Given the description of an element on the screen output the (x, y) to click on. 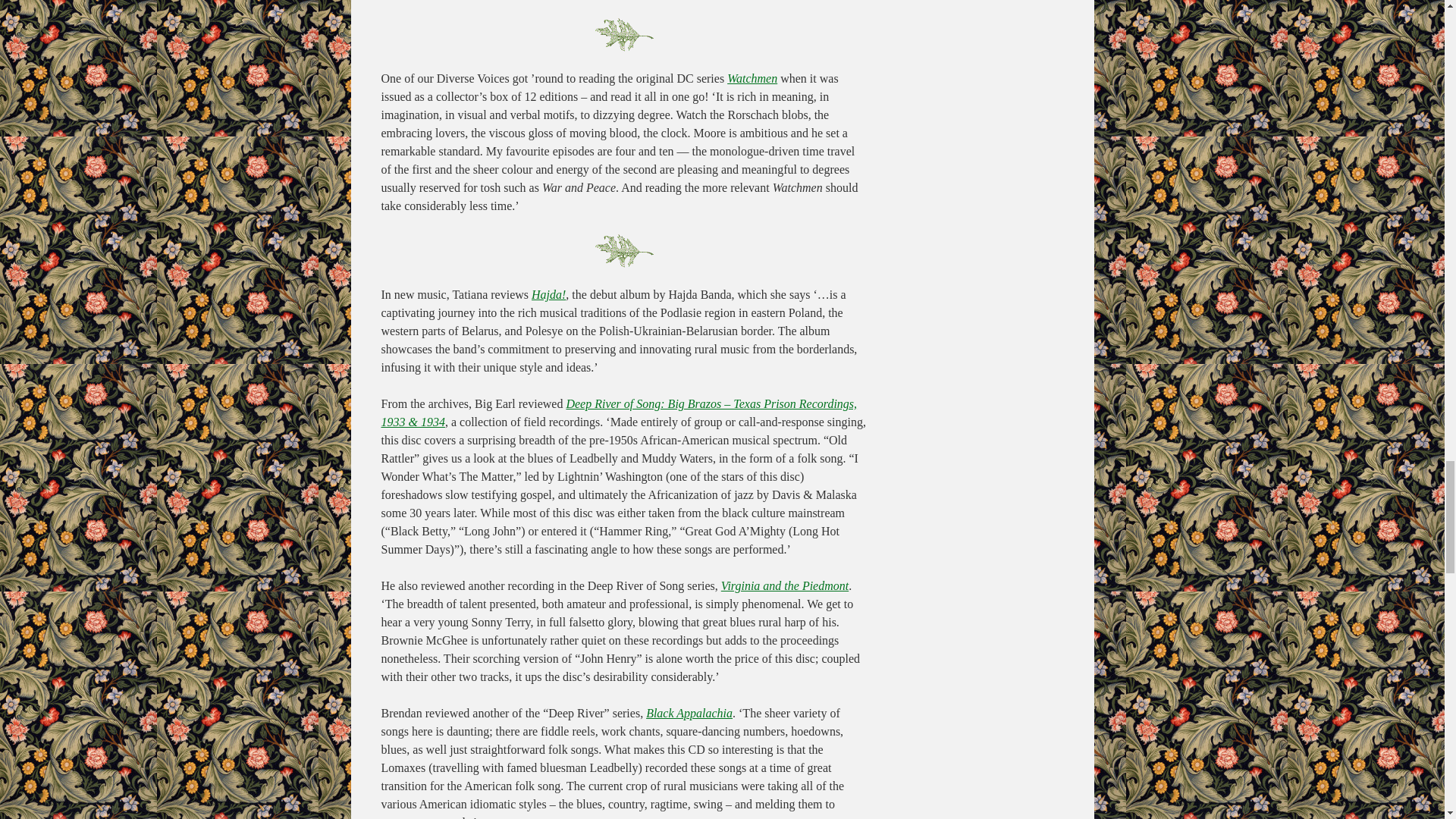
Hajda! (548, 294)
Virginia and the Piedmont (784, 585)
Black Appalachia (689, 712)
Watchmen (751, 78)
